Given the description of an element on the screen output the (x, y) to click on. 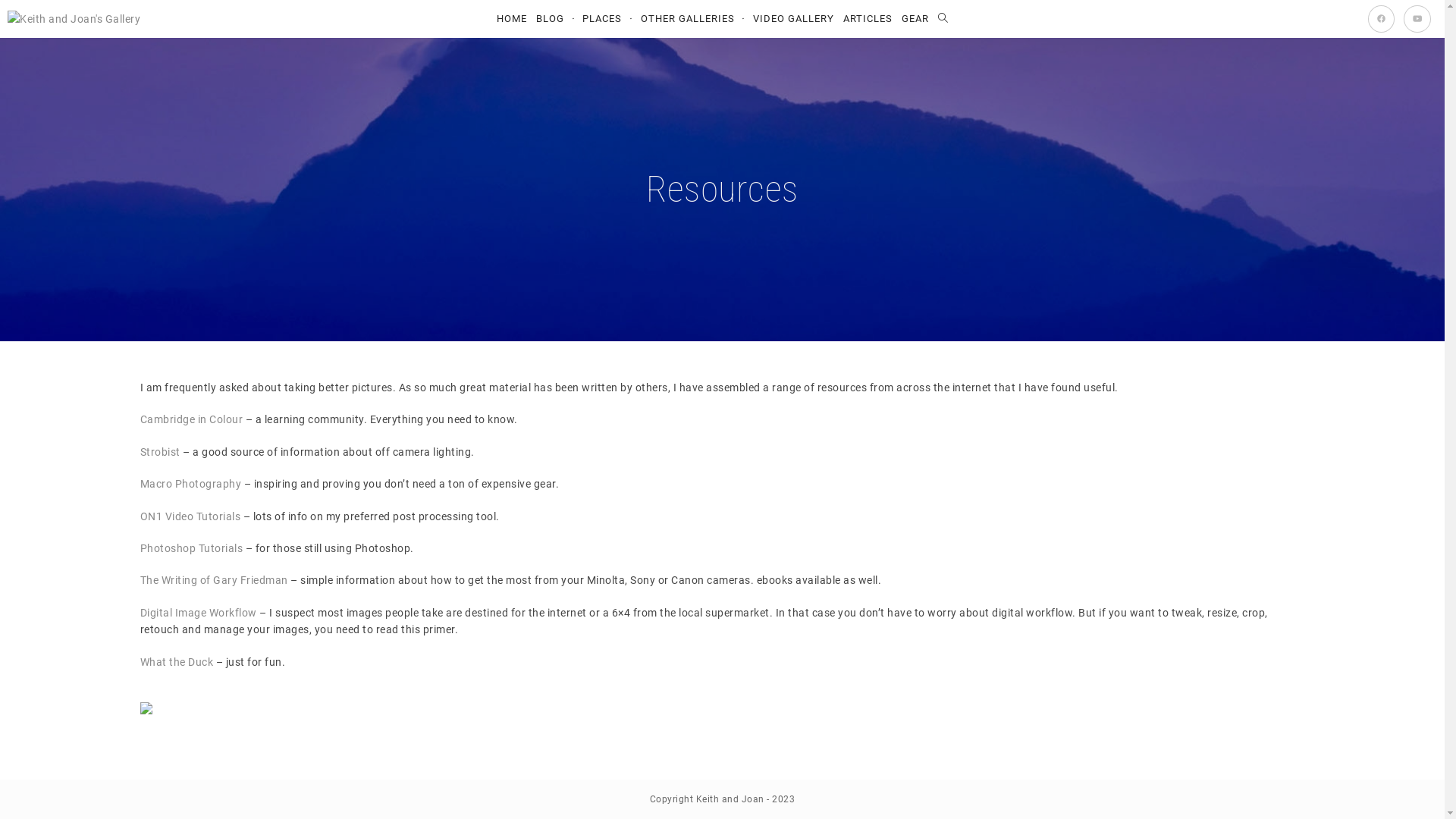
Strobist Element type: text (159, 451)
PLACES Element type: text (606, 18)
GEAR Element type: text (915, 18)
Macro Photography Element type: text (190, 483)
HOME Element type: text (511, 18)
Photoshop Tutorials Element type: text (190, 548)
ARTICLES Element type: text (867, 18)
OTHER GALLERIES Element type: text (692, 18)
BLOG Element type: text (554, 18)
What the Duck Element type: text (176, 661)
ON1 Video Tutorials Element type: text (189, 516)
The Writing of Gary Friedman Element type: text (213, 580)
Cambridge in Colour Element type: text (190, 419)
Digital Image Workflow Element type: text (197, 612)
VIDEO GALLERY Element type: text (793, 18)
